Given the description of an element on the screen output the (x, y) to click on. 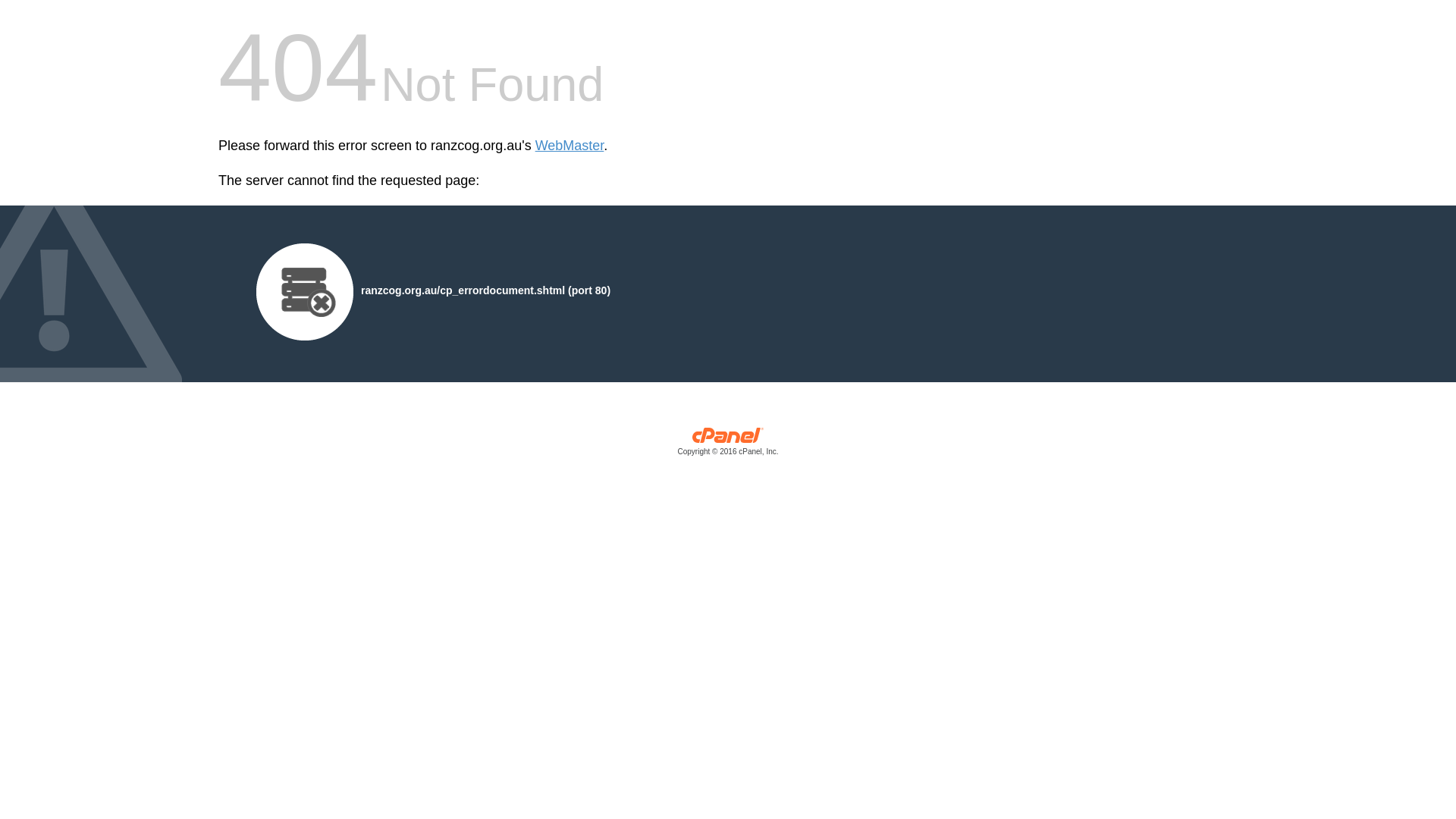
WebMaster Element type: text (569, 145)
